Given the description of an element on the screen output the (x, y) to click on. 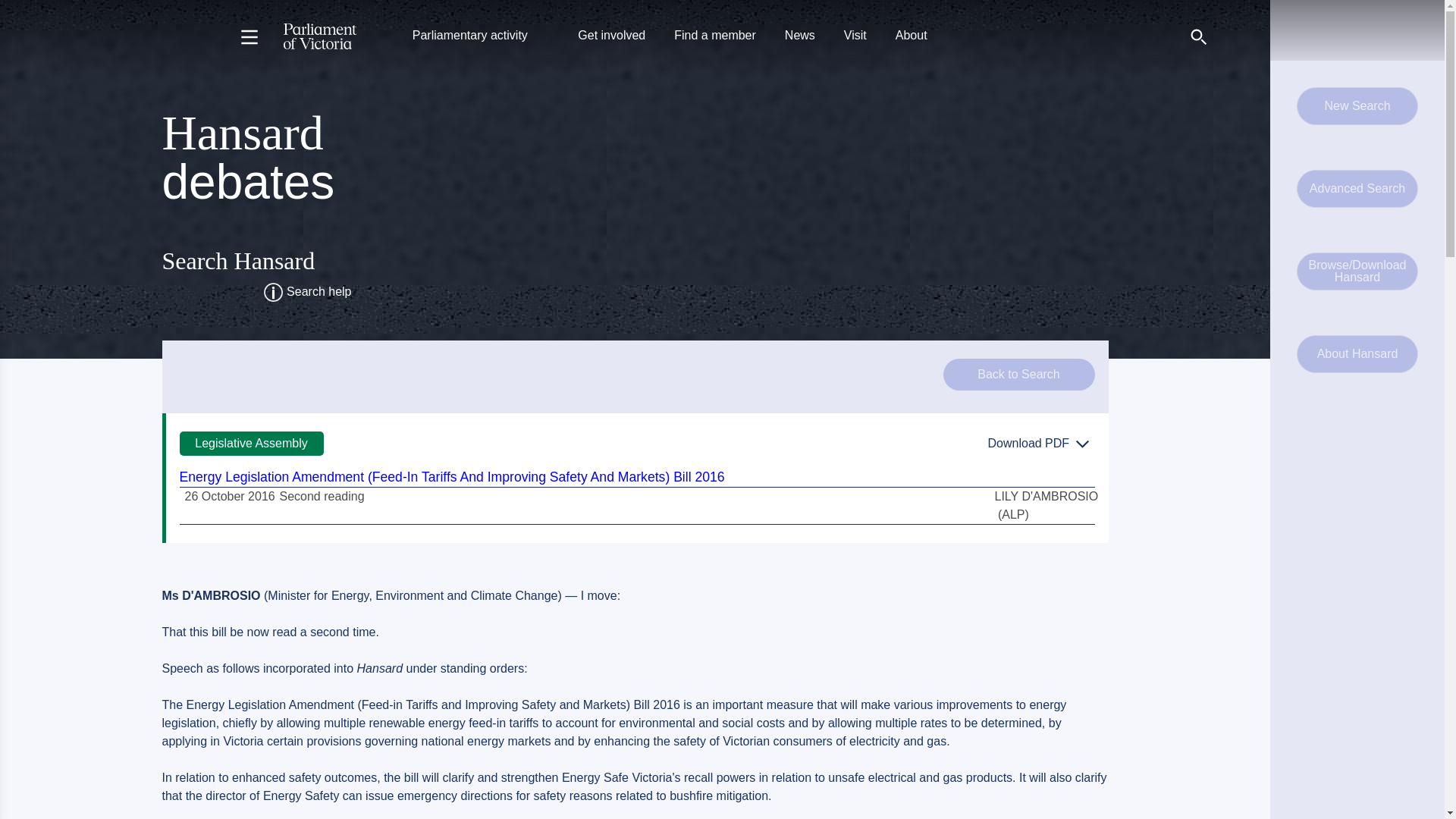
Member (1046, 504)
Activity (321, 495)
Angle-down (539, 36)
House (251, 443)
Parliamentary activity Angle-down (480, 36)
Get involved (611, 36)
Find a member (714, 36)
Search (1198, 36)
View PDF (1039, 442)
